Given the description of an element on the screen output the (x, y) to click on. 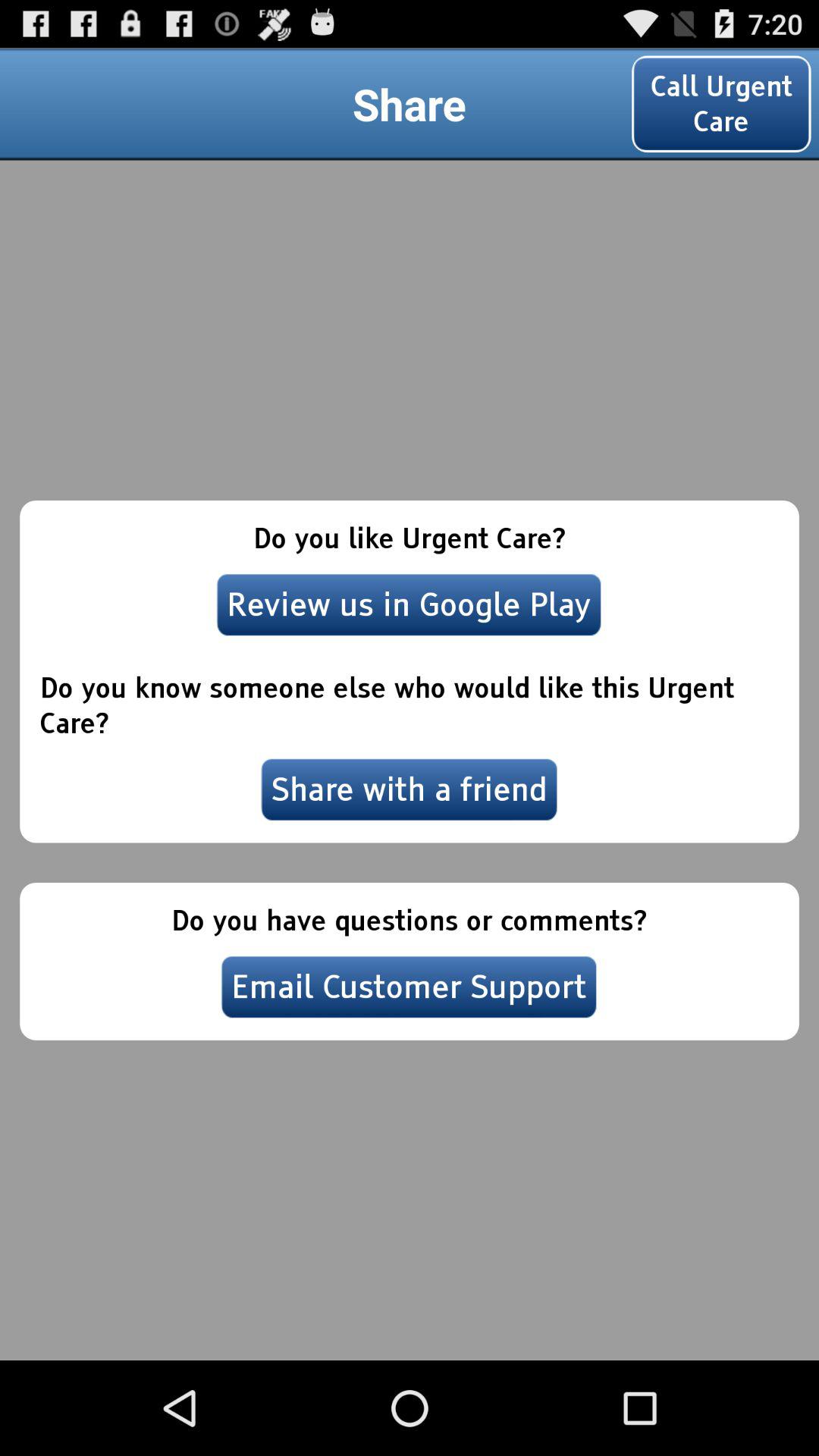
scroll to the share with a (409, 789)
